Given the description of an element on the screen output the (x, y) to click on. 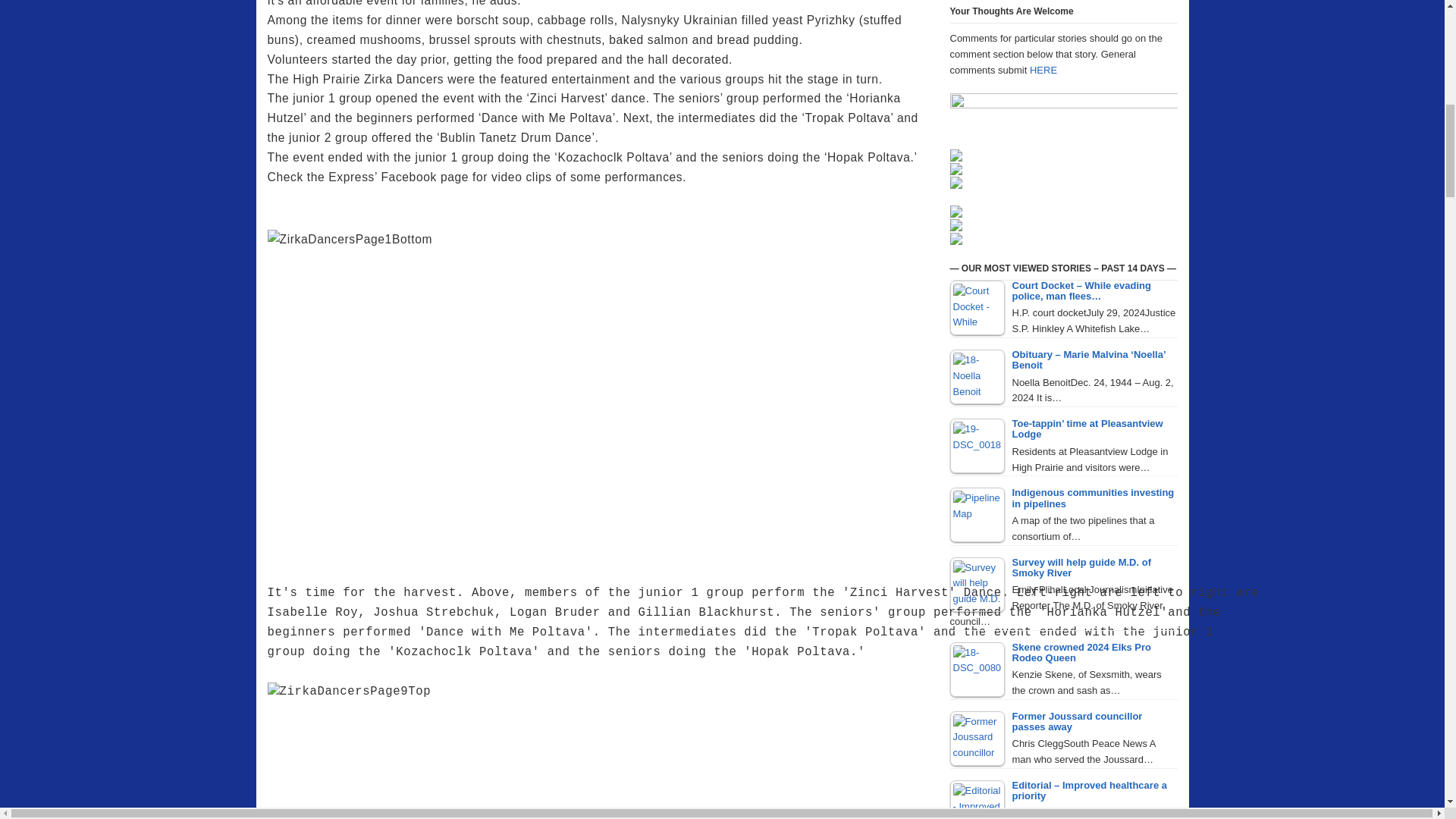
Skene crowned 2024 Elks Pro Rodeo Queen (976, 668)
Survey will help guide M.D. of Smoky River (976, 584)
Editorial - Improved healthcare a priority (976, 799)
Obituary - Marie Malvina 'Noella' Benoit (976, 376)
Indigenous communities investing in pipelines (976, 514)
Former Joussard councillor passes away (976, 738)
